Given the description of an element on the screen output the (x, y) to click on. 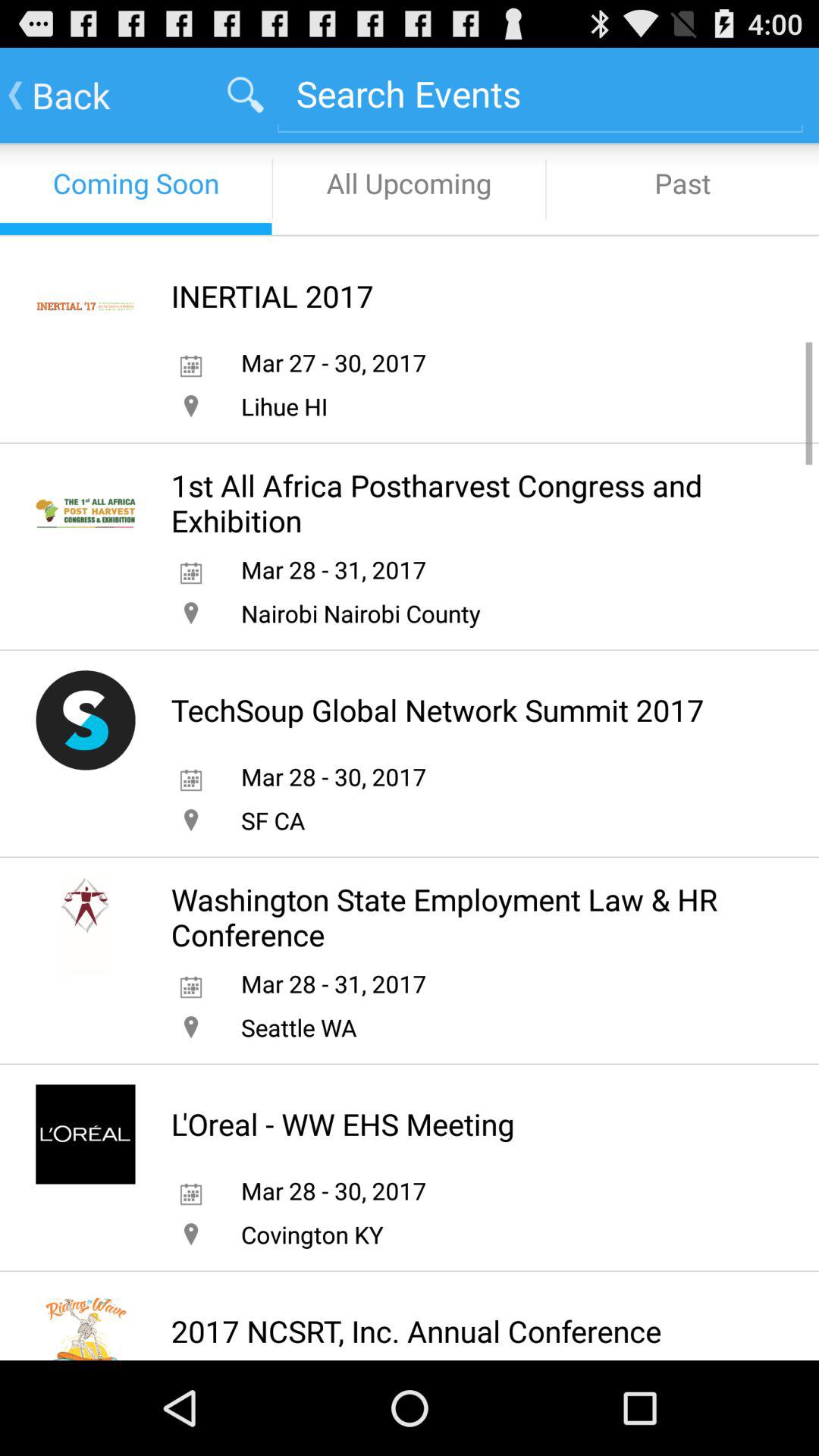
swipe to l oreal ww item (342, 1123)
